Given the description of an element on the screen output the (x, y) to click on. 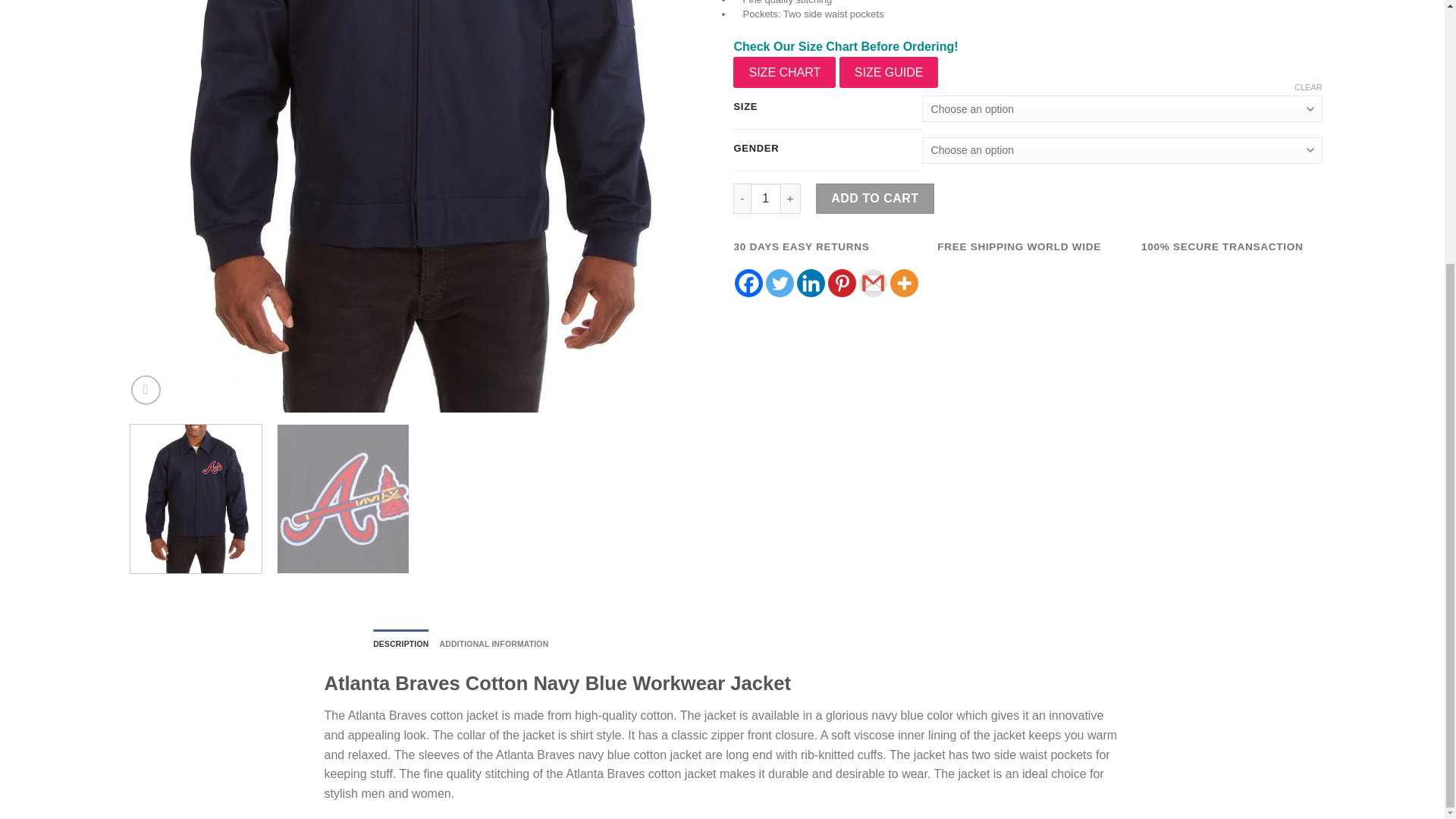
SIZE GUIDE (889, 72)
Twitter (779, 283)
Qty (765, 198)
- (741, 198)
Facebook (748, 283)
Linkedin (810, 283)
ADD TO CART (874, 198)
1 (765, 198)
CLEAR (1308, 86)
SIZE CHART (784, 72)
Zoom (145, 389)
